Given the description of an element on the screen output the (x, y) to click on. 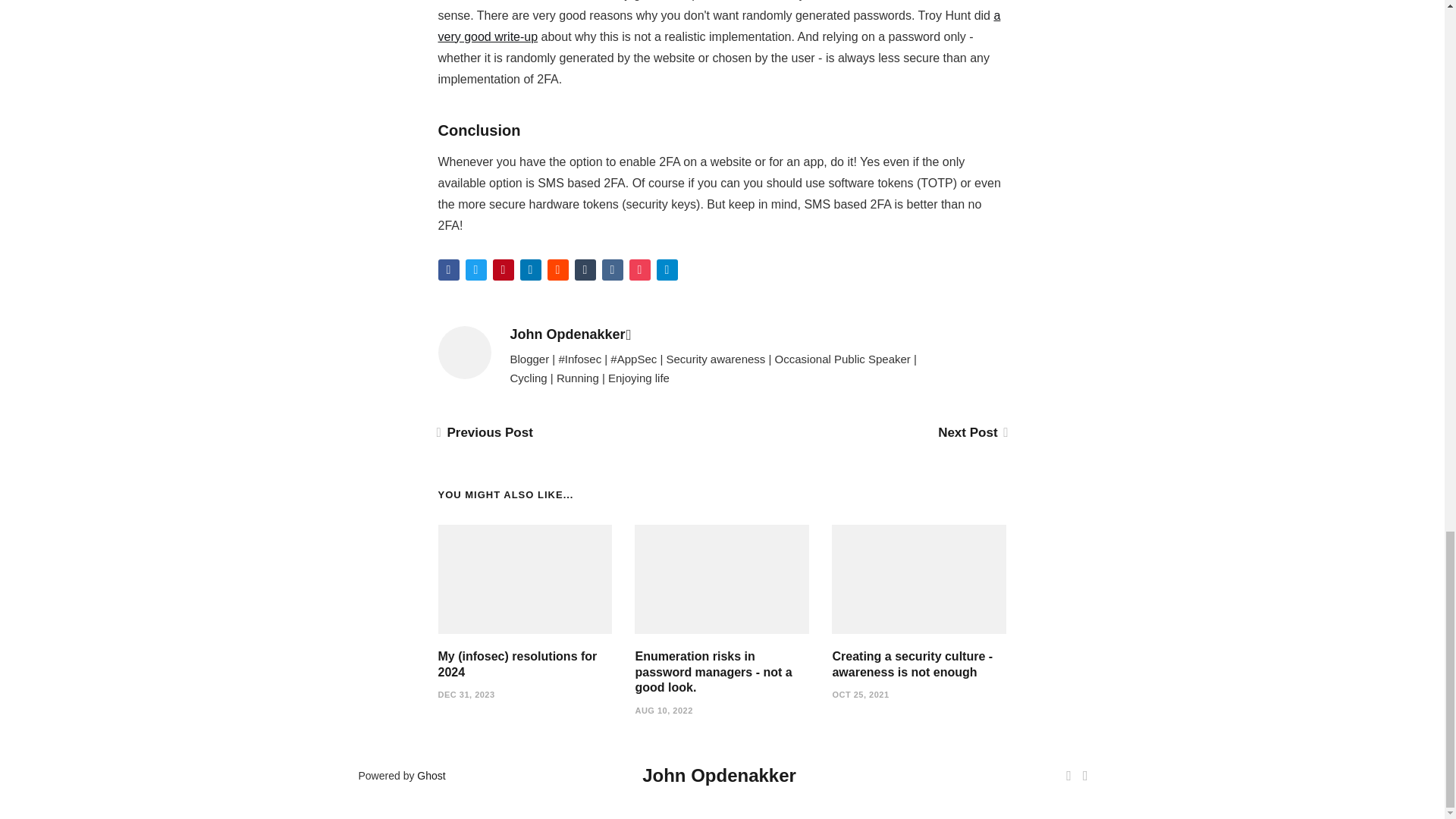
Previous Post (485, 432)
Next Post (971, 432)
a very good write-up (719, 26)
Enumeration risks in password managers - not a good look. (713, 672)
